Given the description of an element on the screen output the (x, y) to click on. 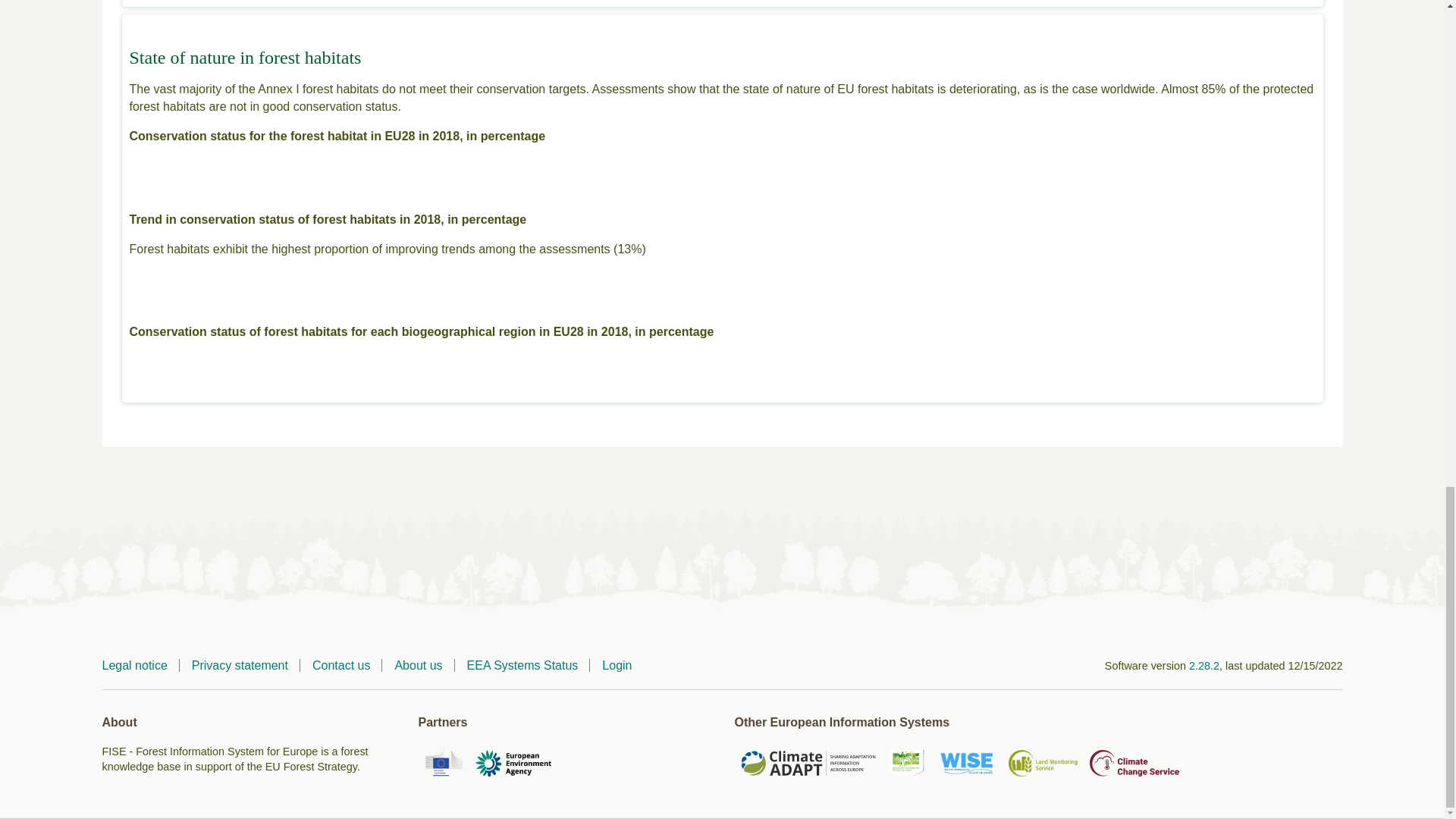
European Commission (444, 763)
European Environment Agency (512, 765)
European Commission (444, 765)
Biodiversity Information Sistems for Europe (906, 765)
Biodiversity Information Sistems for Europe (906, 763)
Climate Adapt (806, 765)
European Environment Agency (513, 763)
Water Information System for Europe (966, 765)
Climate Adapt (807, 763)
